Given the description of an element on the screen output the (x, y) to click on. 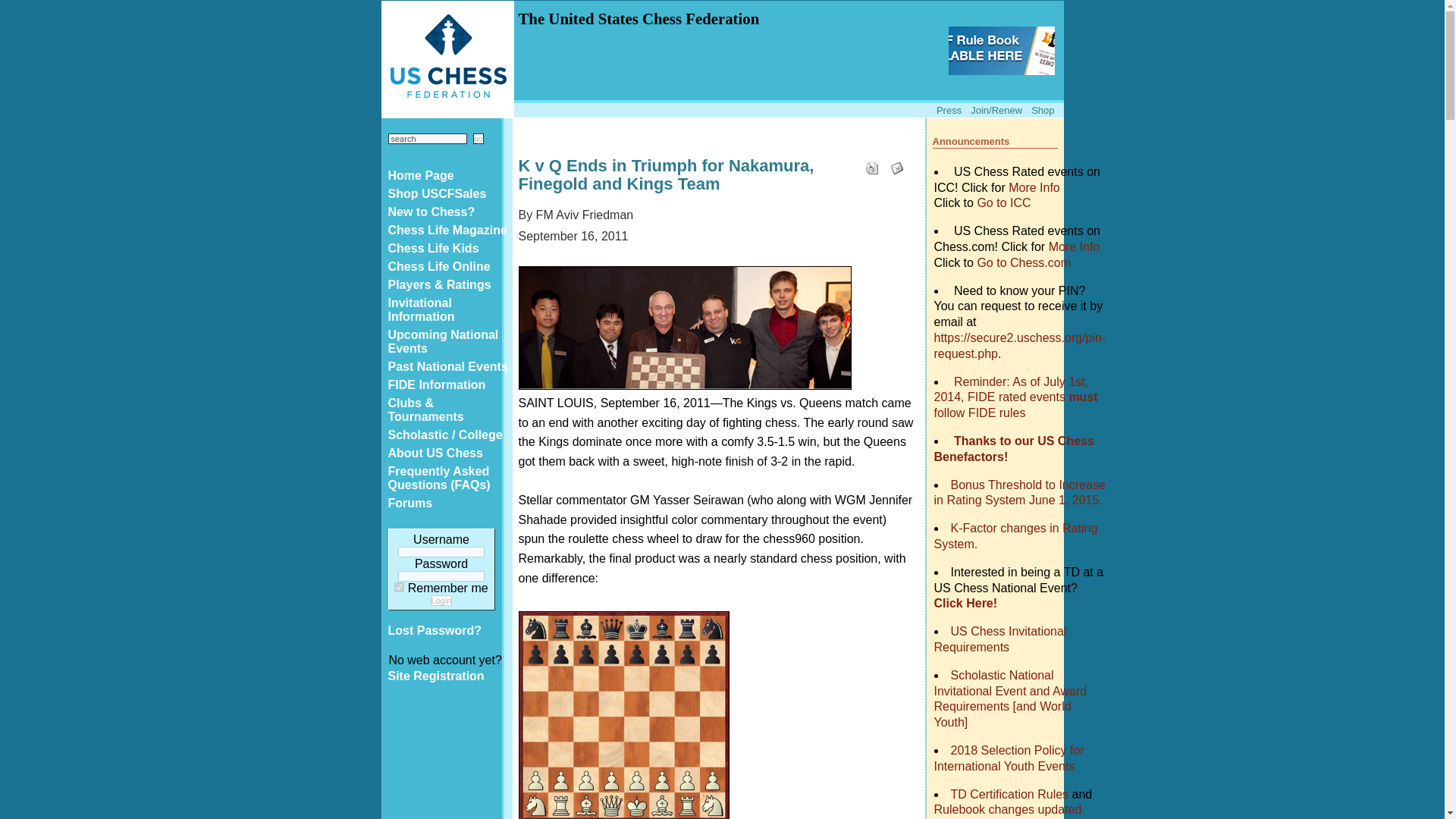
E-mail (901, 164)
2018 Selection Policy for International Youth Events (1009, 758)
Print (877, 164)
Shop (1042, 110)
Go to Chess.com (1023, 262)
Thanks to our US Chess Benefactors! (1014, 448)
go (478, 138)
Press (948, 110)
More Info (1074, 246)
BannerKings.jpg (684, 327)
Go to ICC (1003, 202)
More Info (1034, 187)
Chess Life Online (447, 266)
Chess Life Magazine (447, 230)
